Given the description of an element on the screen output the (x, y) to click on. 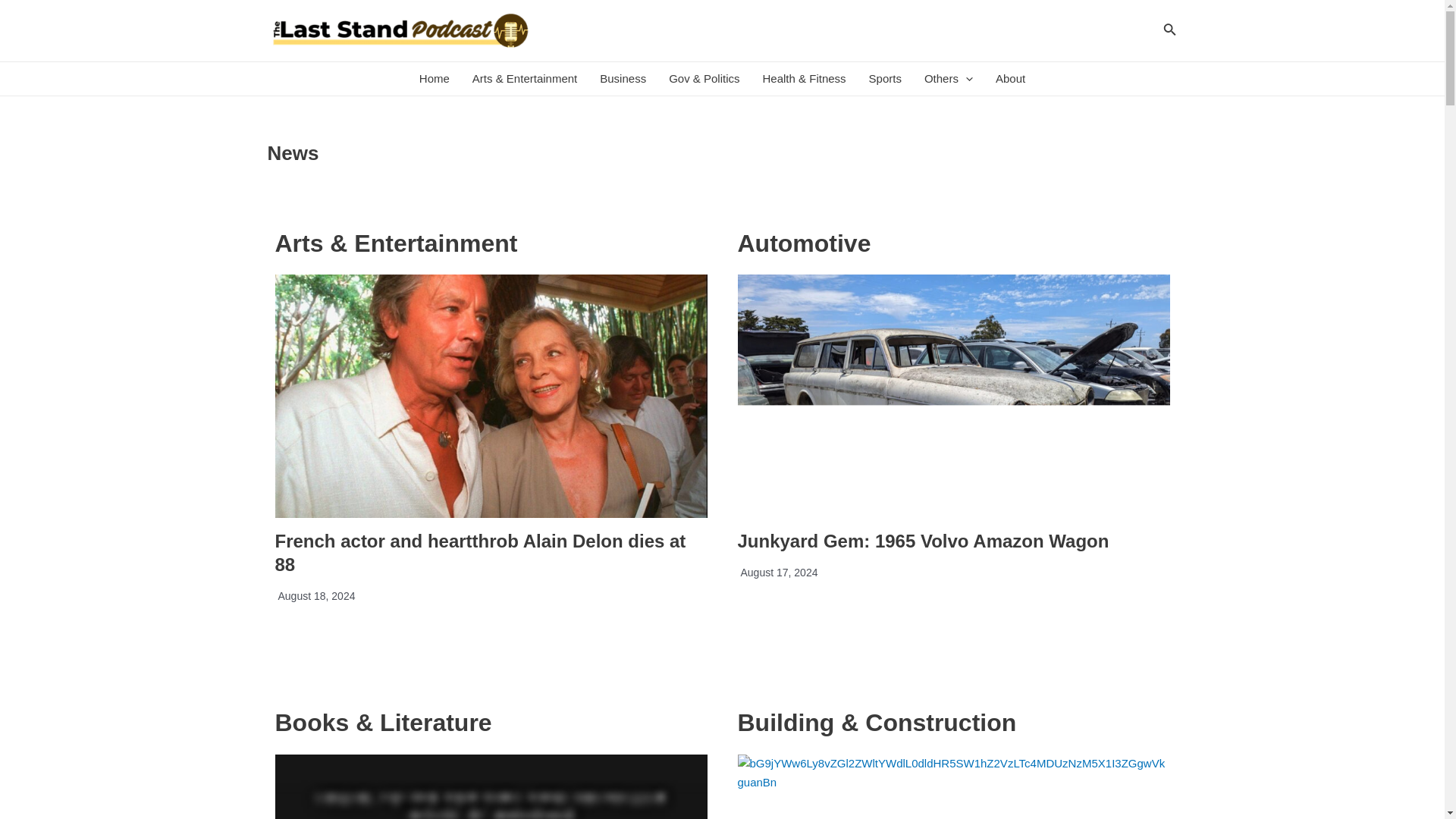
Business (623, 78)
Sports (884, 78)
About (1010, 78)
Others (948, 78)
Home (434, 78)
